Given the description of an element on the screen output the (x, y) to click on. 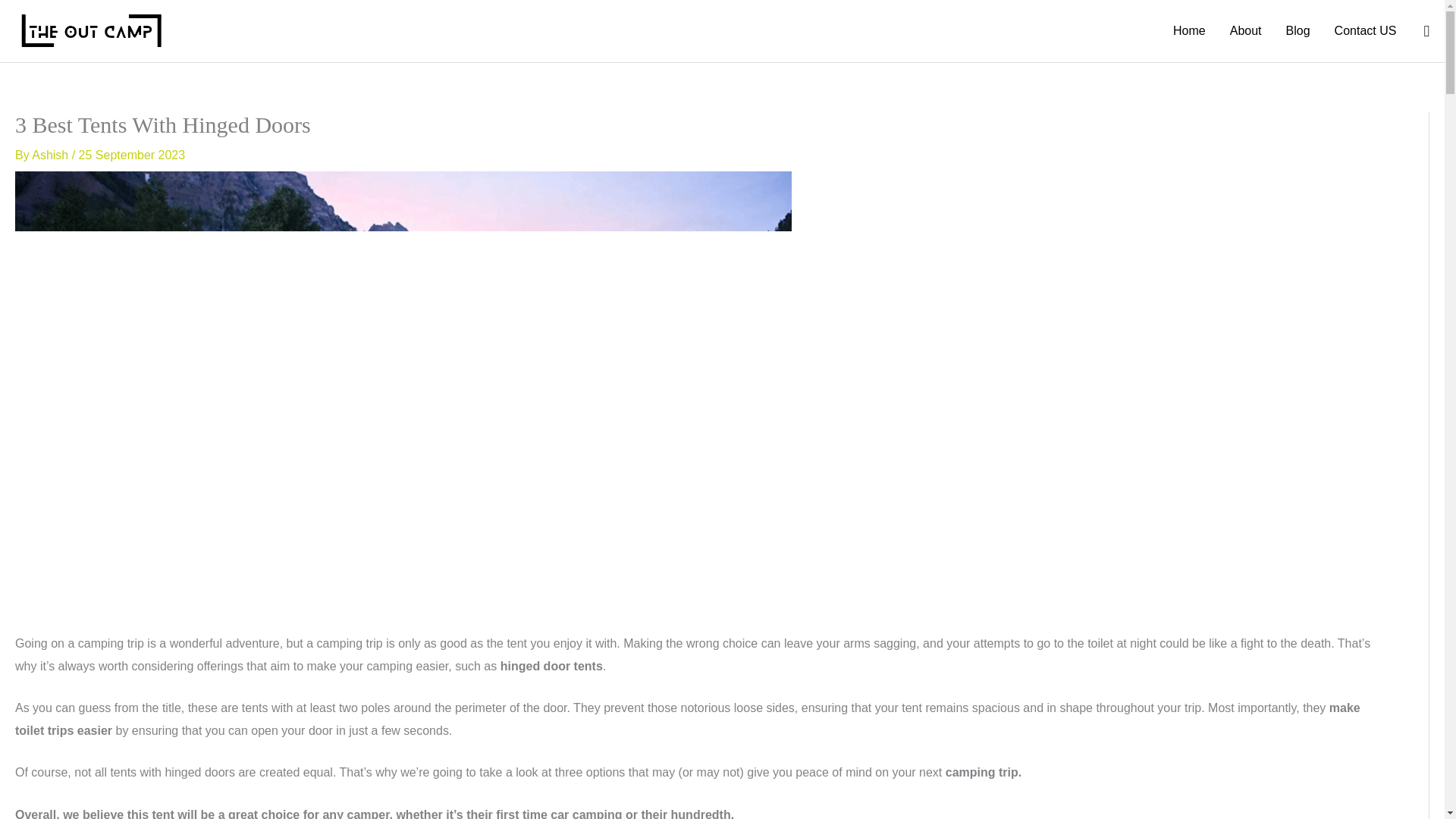
View all posts by Ashish (51, 154)
Home (1188, 30)
Contact US (1365, 30)
About (1245, 30)
Ashish (51, 154)
Blog (1298, 30)
